Given the description of an element on the screen output the (x, y) to click on. 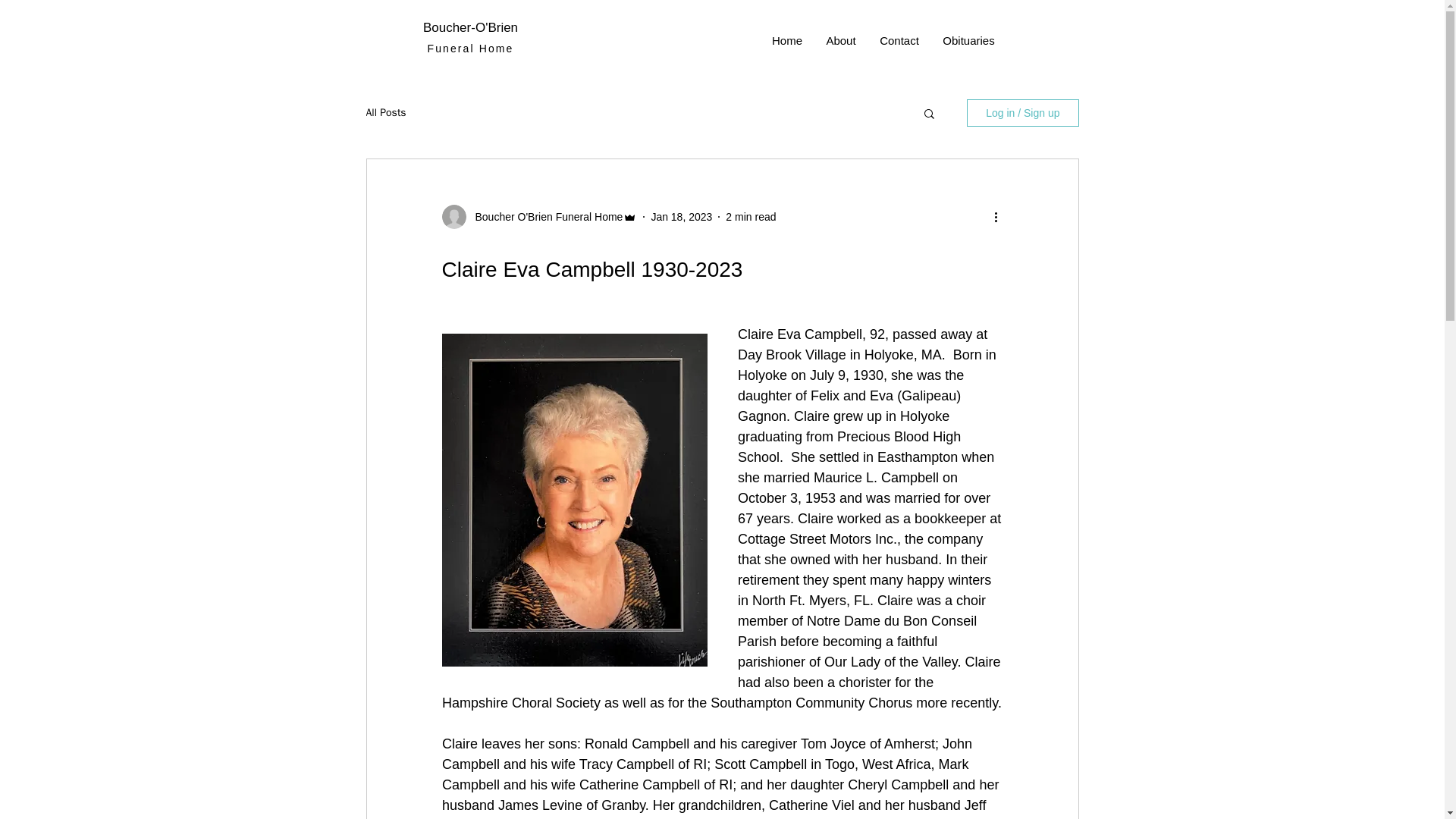
Home (786, 40)
Obituaries (969, 40)
2 min read (750, 216)
About (840, 40)
Jan 18, 2023 (680, 216)
Boucher- (449, 27)
Boucher O'Brien Funeral Home (544, 217)
Funeral Home (470, 48)
Contact (898, 40)
All Posts (385, 112)
